Given the description of an element on the screen output the (x, y) to click on. 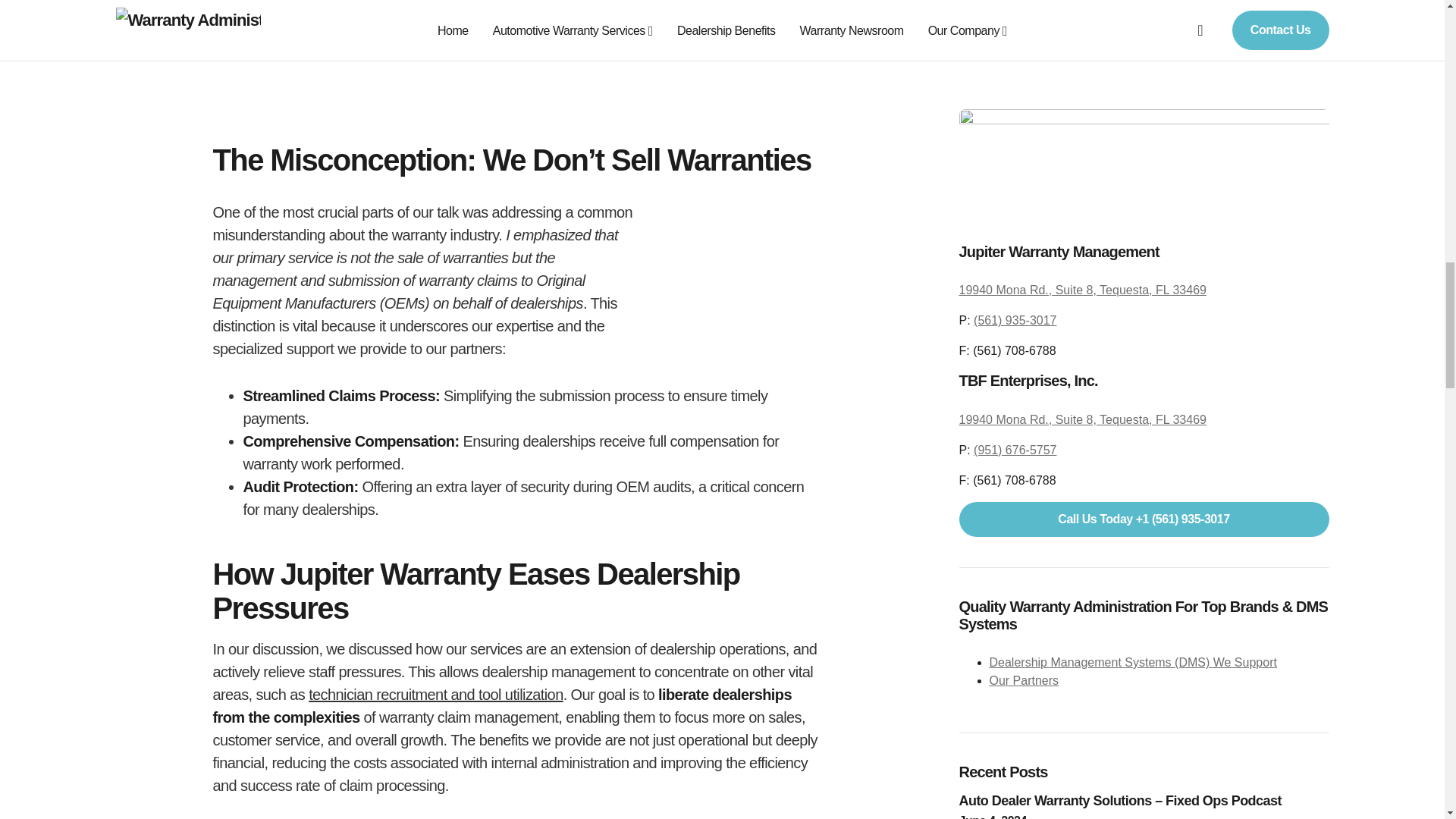
Executive Spotlight with Tyler Nathan of TBF Jupiter (515, 53)
